Given the description of an element on the screen output the (x, y) to click on. 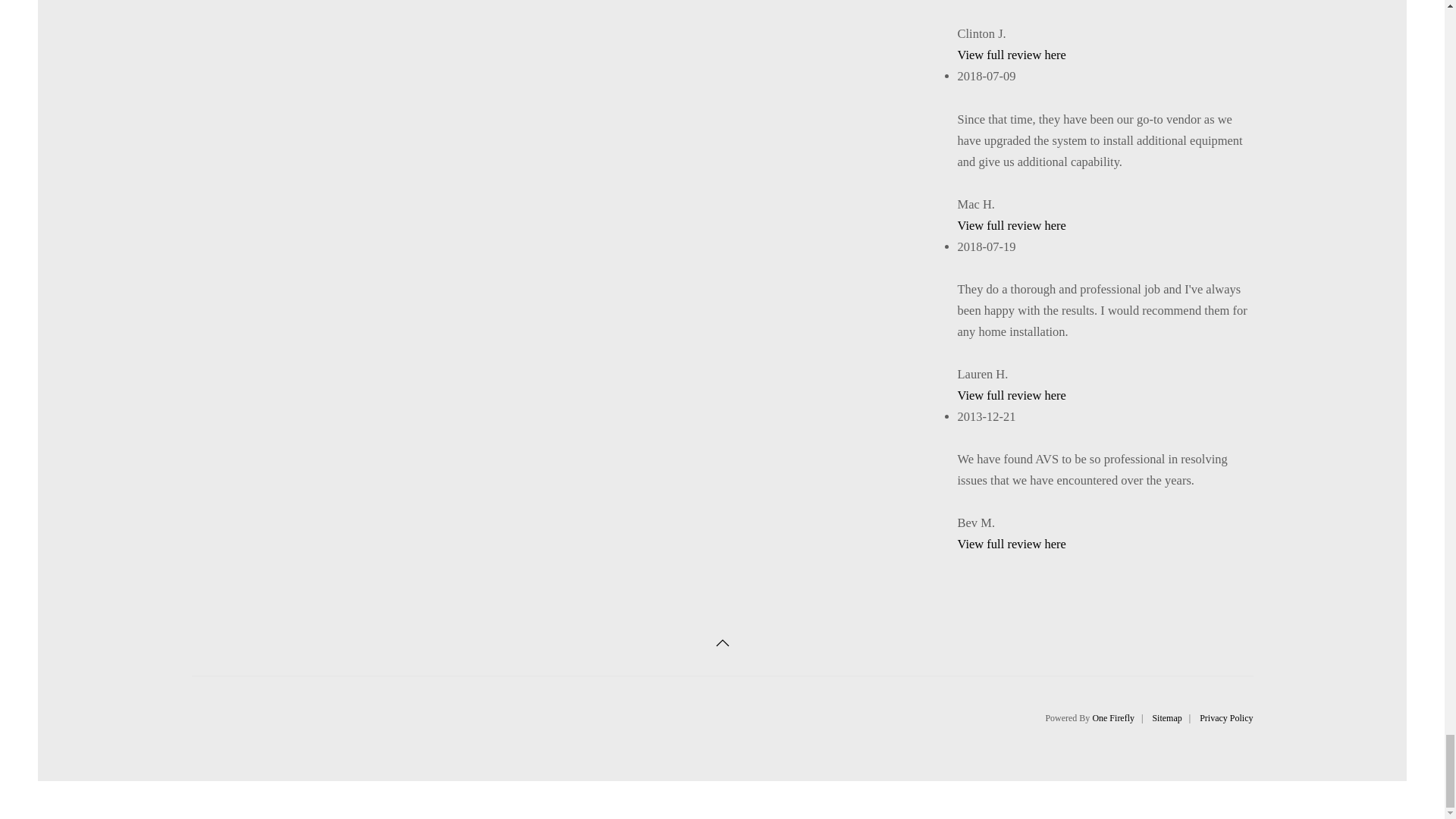
Back to Top (721, 642)
